Given the description of an element on the screen output the (x, y) to click on. 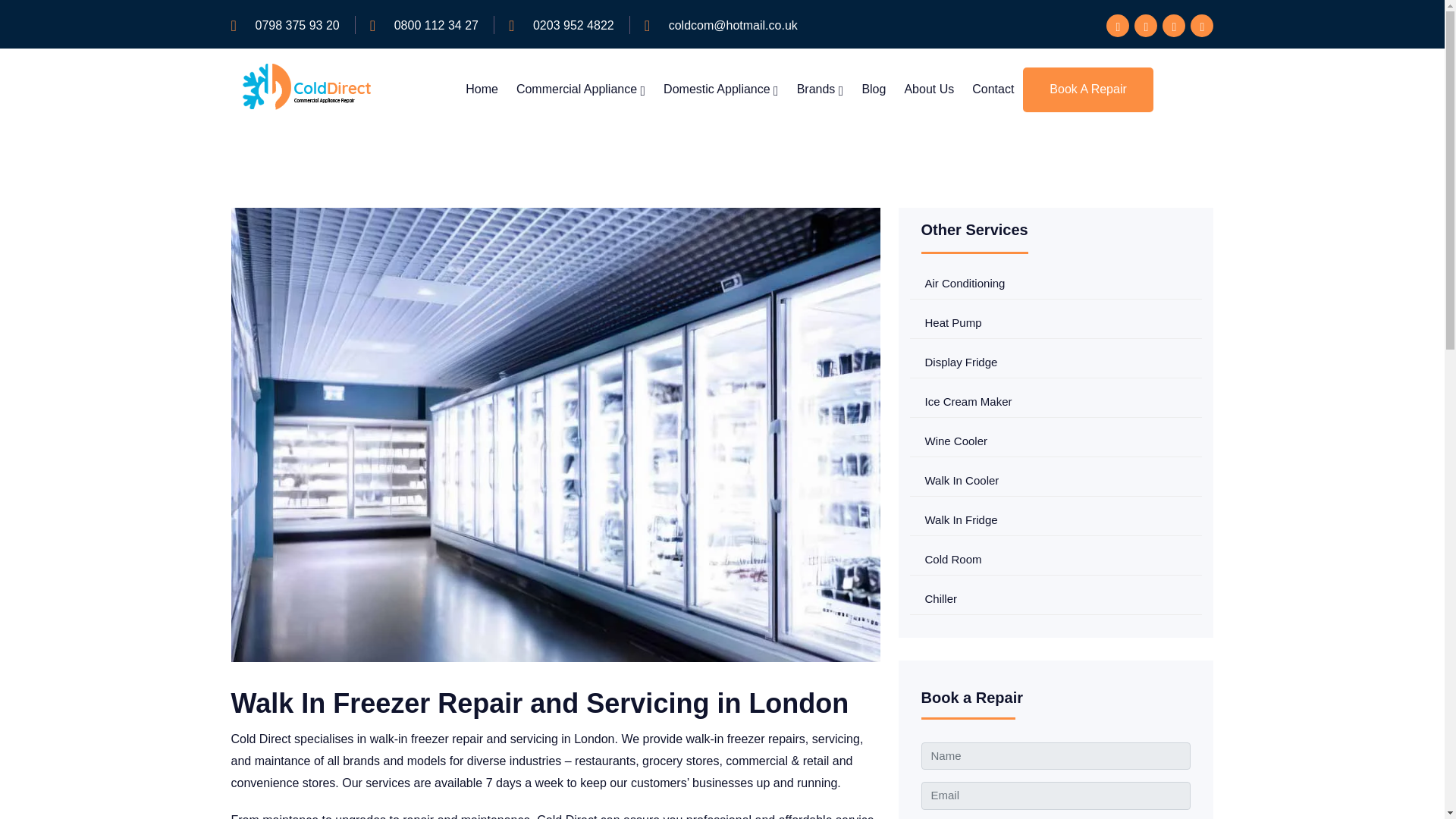
0800 112 34 27 (436, 25)
Domestic Appliance (720, 89)
0203 952 4822 (573, 25)
Brands (820, 89)
Cold Direct Logo (307, 89)
Commercial Appliance (580, 89)
0798 375 93 20 (296, 25)
Home (481, 89)
